Given the description of an element on the screen output the (x, y) to click on. 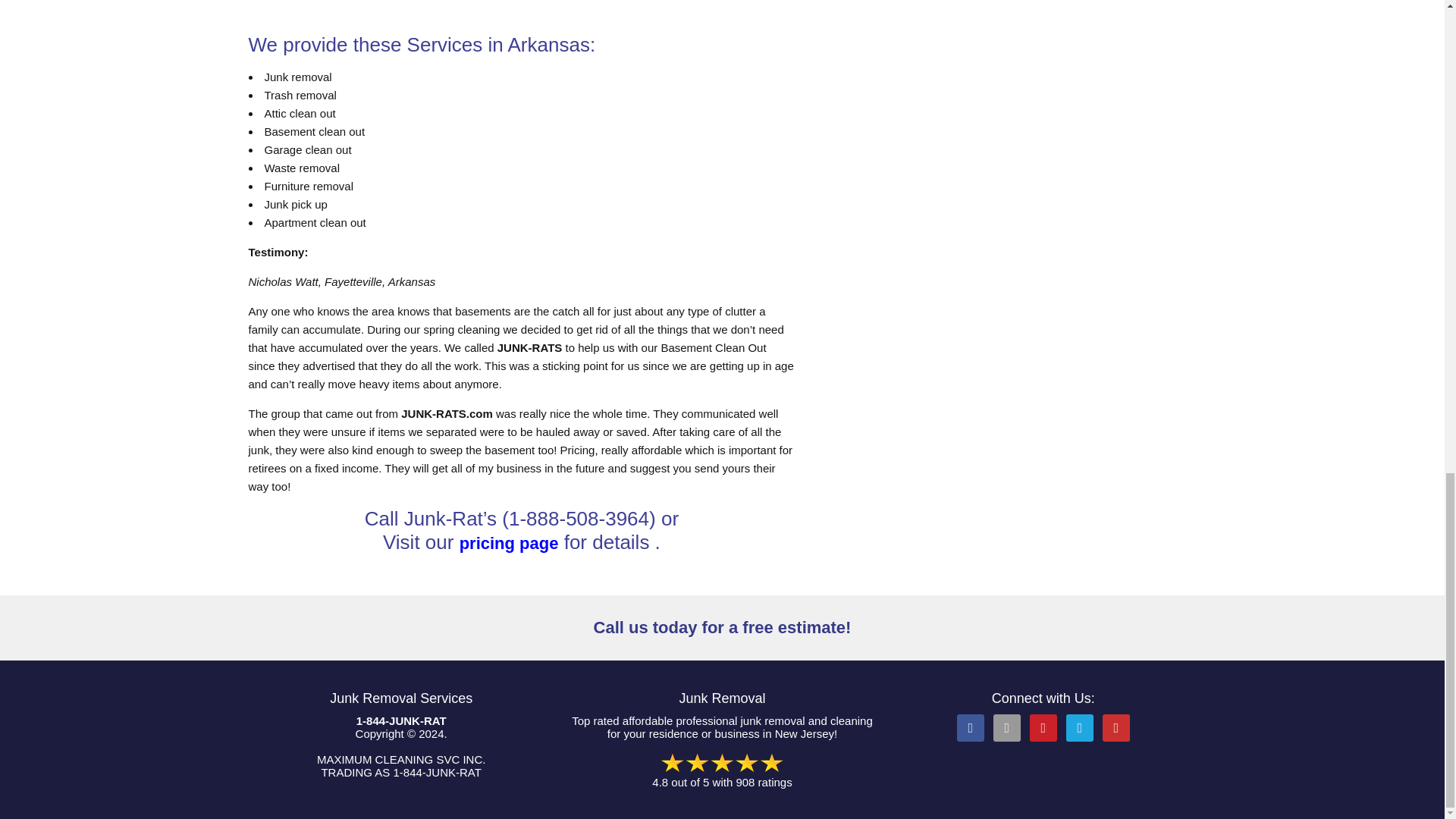
pricing page (509, 542)
pricing pge (509, 542)
We are a top rated Junk removal company! (722, 762)
